Given the description of an element on the screen output the (x, y) to click on. 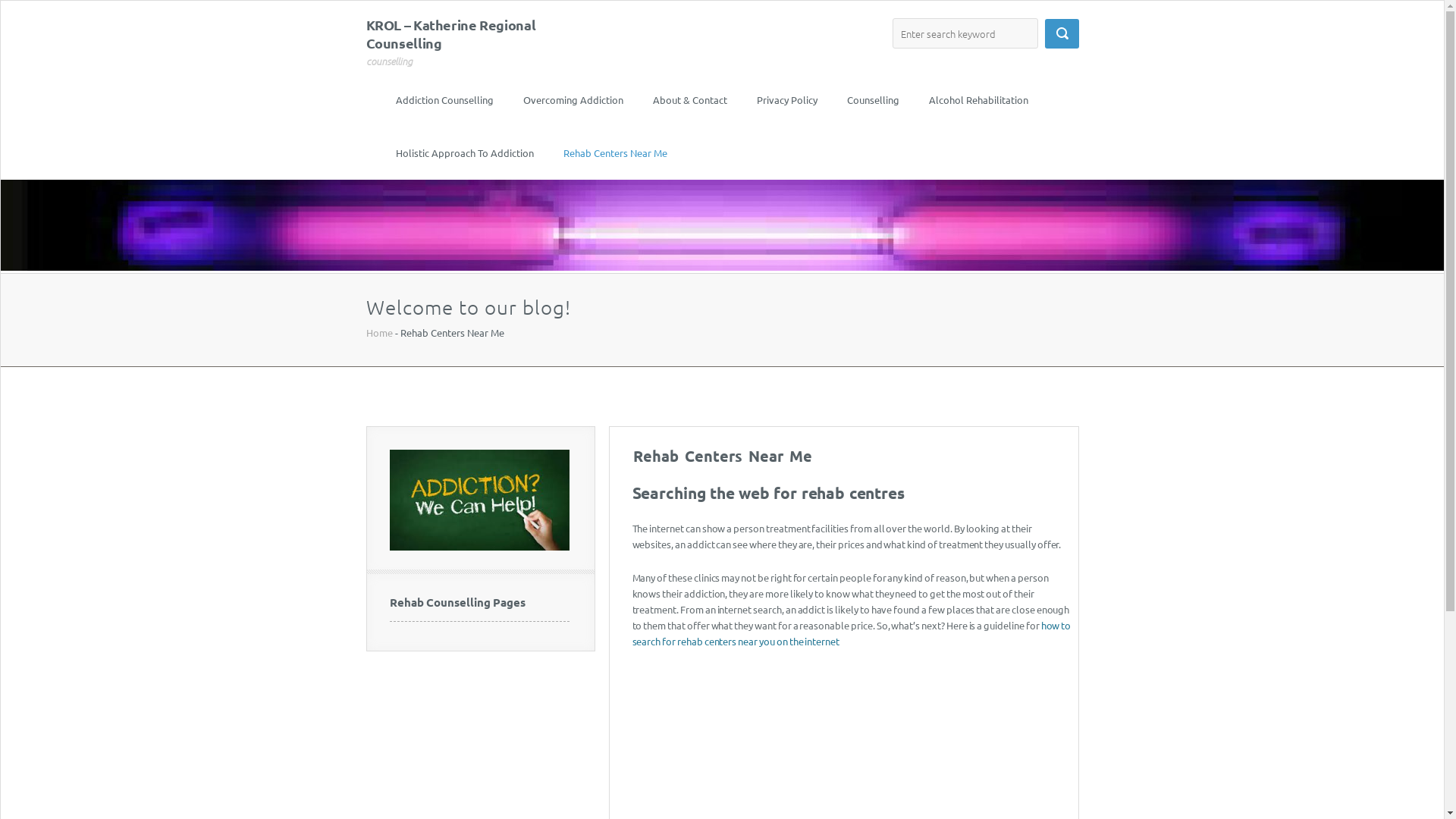
Privacy Policy Element type: text (786, 99)
About & Contact Element type: text (689, 99)
Addiction Counselling Element type: text (444, 99)
Home Element type: text (378, 332)
Rehab Centers Near Me Element type: text (614, 152)
Holistic Approach To Addiction Element type: text (464, 152)
Alcohol Rehabilitation Element type: text (977, 99)
Overcoming Addiction Element type: text (573, 99)
how to search for rehab centers near you on the internet Element type: text (851, 632)
Counselling Element type: text (872, 99)
